Given the description of an element on the screen output the (x, y) to click on. 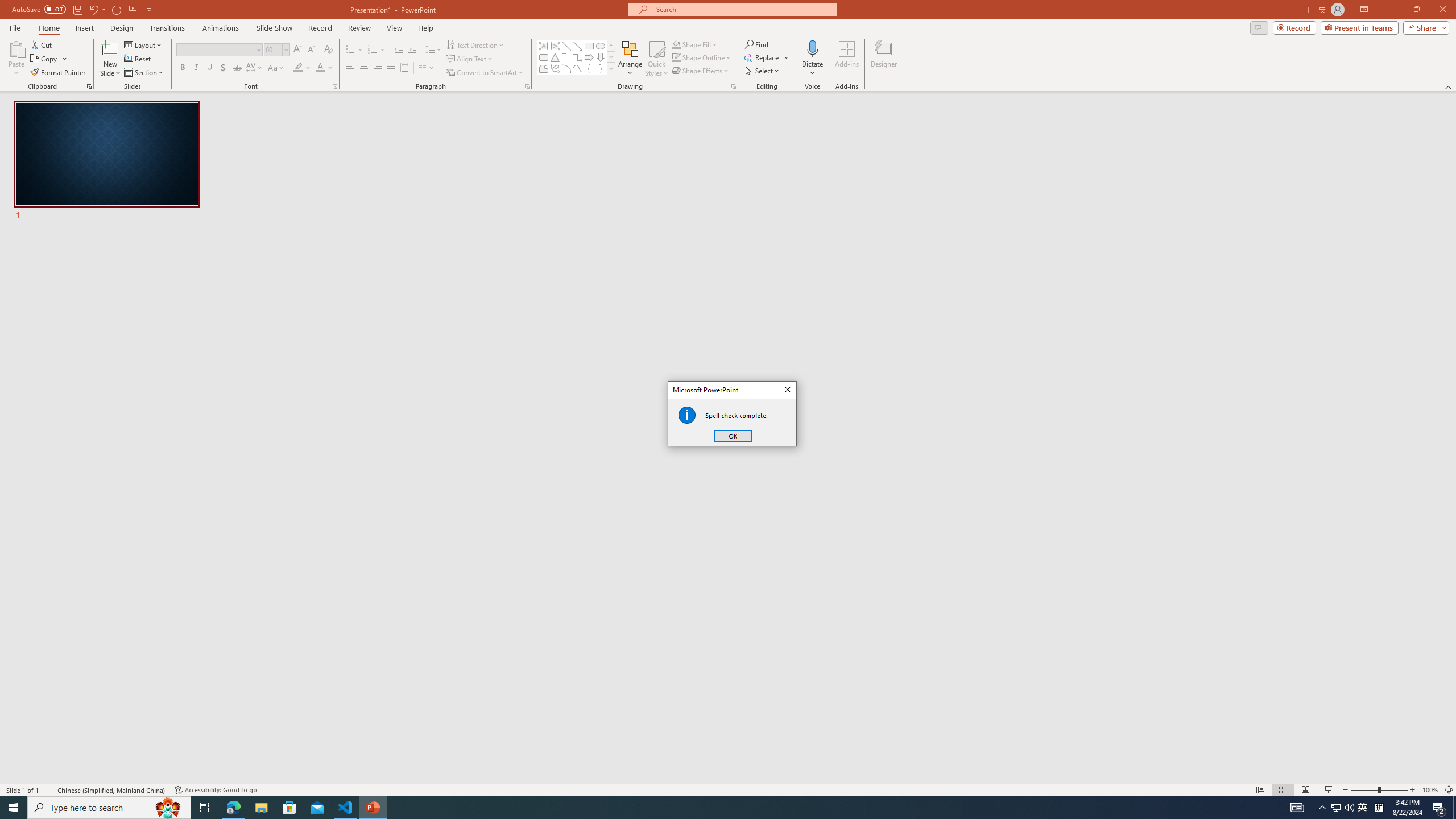
Zoom 100% (1430, 790)
